Given the description of an element on the screen output the (x, y) to click on. 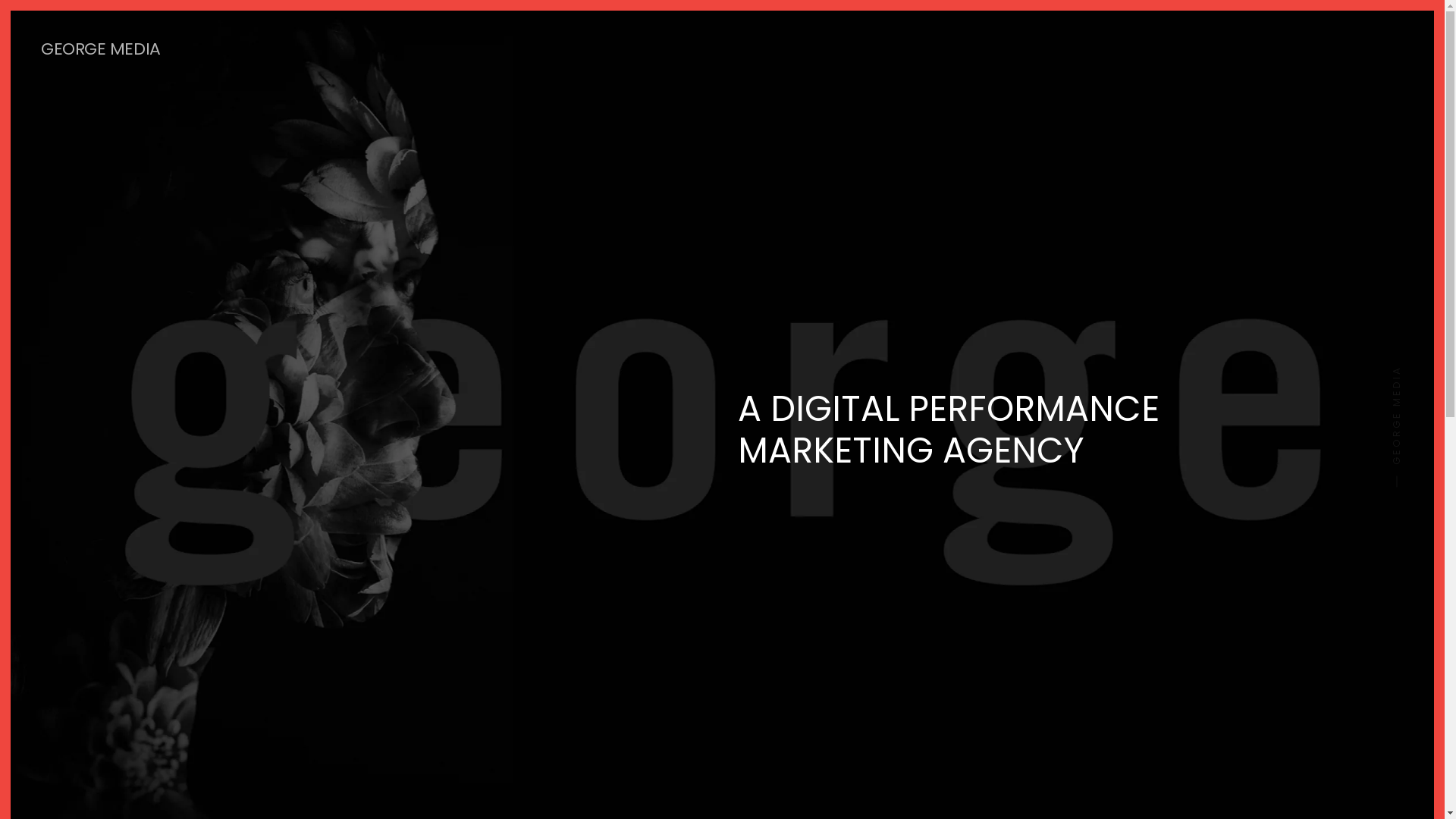
GEORGE MEDIA Element type: text (100, 48)
